Given the description of an element on the screen output the (x, y) to click on. 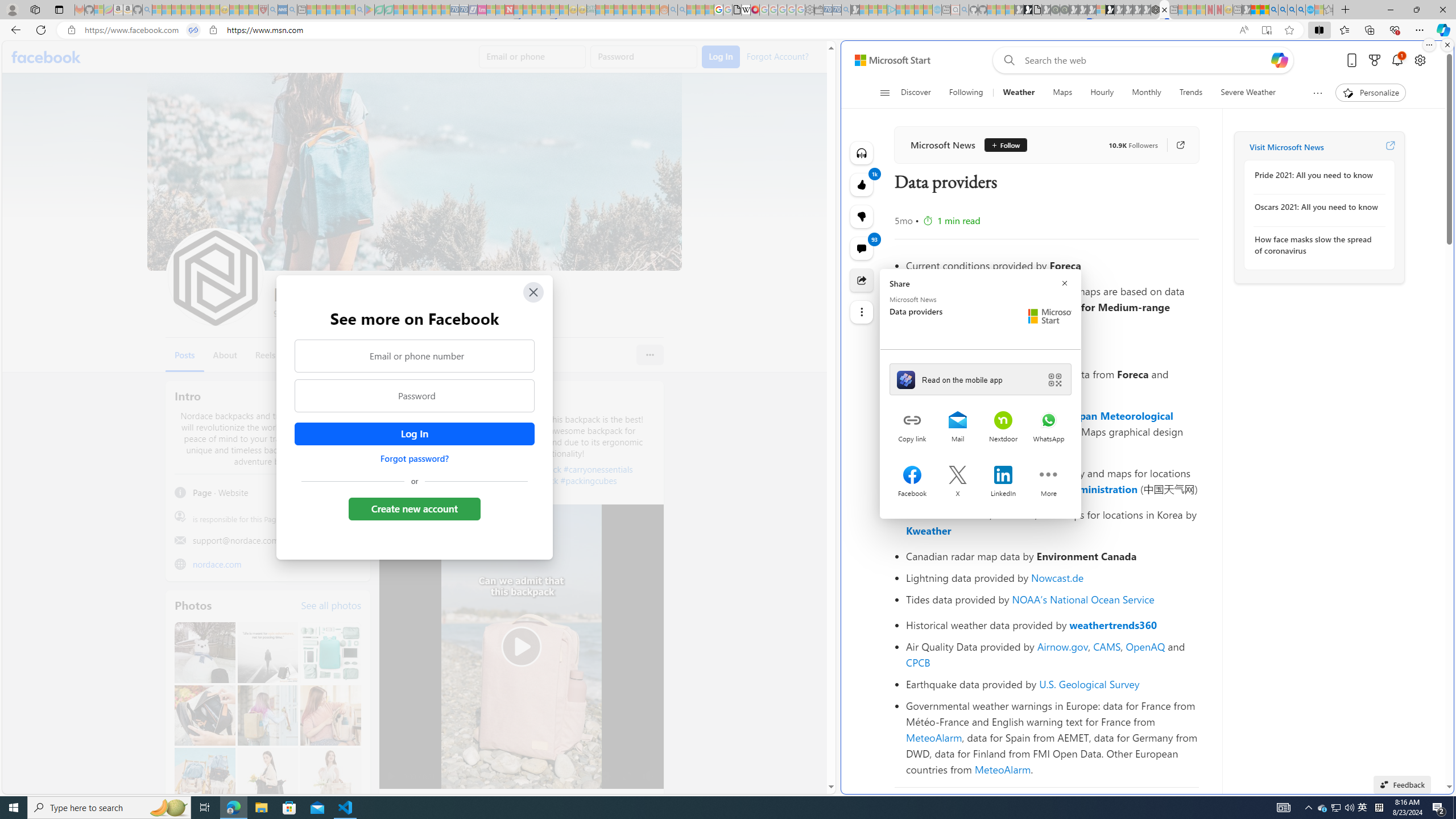
1k Like (861, 184)
Earthquake data provided by U.S. Geological Survey (1051, 684)
CAMS (1107, 646)
Accessible login button (414, 433)
1k (861, 216)
Share on Nextdoor (1002, 421)
